Given the description of an element on the screen output the (x, y) to click on. 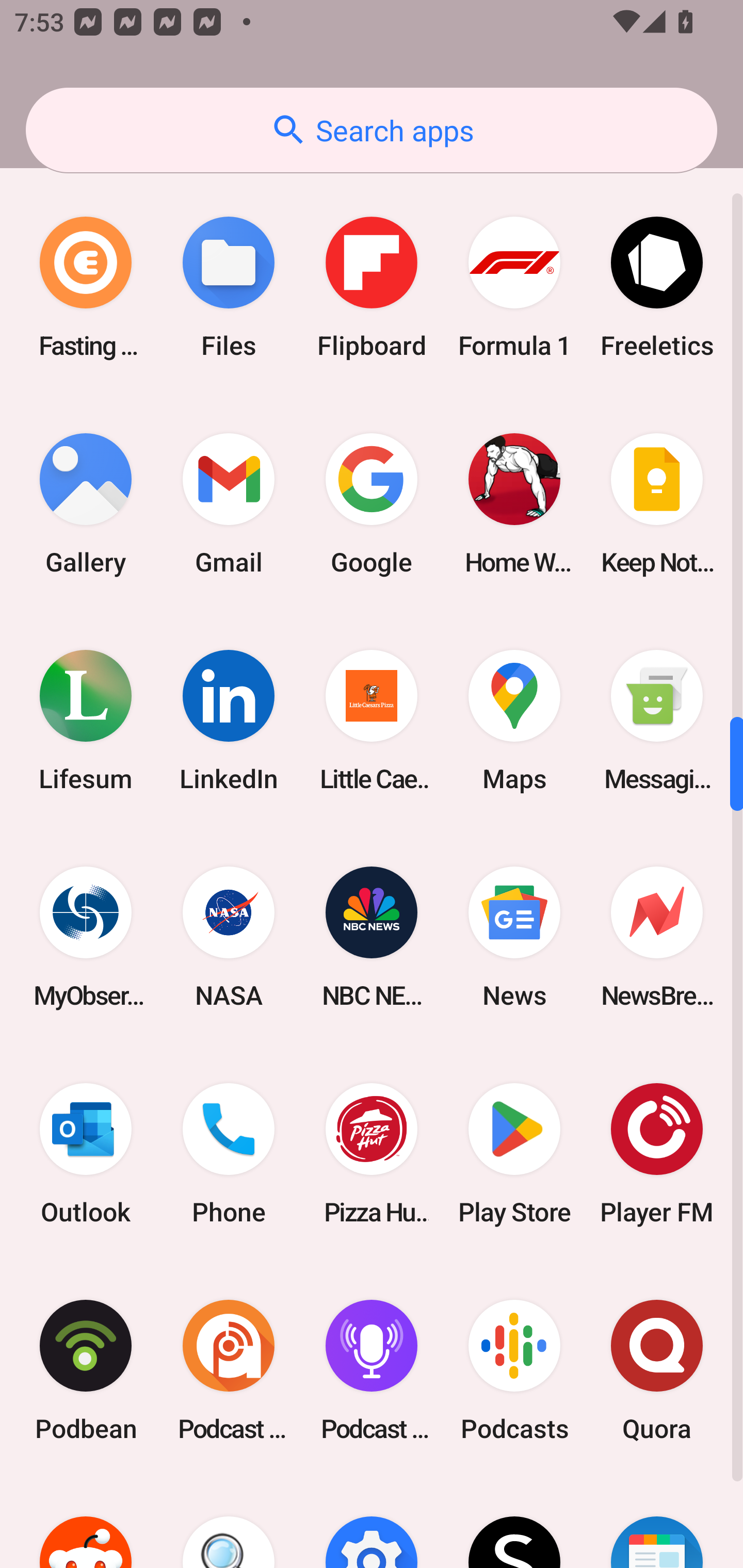
  Search apps (371, 130)
Fasting Coach (85, 286)
Files (228, 286)
Flipboard (371, 286)
Formula 1 (514, 286)
Freeletics (656, 286)
Gallery (85, 503)
Gmail (228, 503)
Google (371, 503)
Home Workout (514, 503)
Keep Notes (656, 503)
Lifesum (85, 720)
LinkedIn (228, 720)
Little Caesars Pizza (371, 720)
Maps (514, 720)
Messaging (656, 720)
MyObservatory (85, 937)
NASA (228, 937)
NBC NEWS (371, 937)
News (514, 937)
NewsBreak (656, 937)
Outlook (85, 1153)
Phone (228, 1153)
Pizza Hut HK & Macau (371, 1153)
Play Store (514, 1153)
Player FM (656, 1153)
Podbean (85, 1370)
Podcast Addict (228, 1370)
Podcast Player (371, 1370)
Podcasts (514, 1370)
Quora (656, 1370)
Reddit (85, 1523)
Search (228, 1523)
Settings (371, 1523)
SHEIN (514, 1523)
SmartNews (656, 1523)
